Given the description of an element on the screen output the (x, y) to click on. 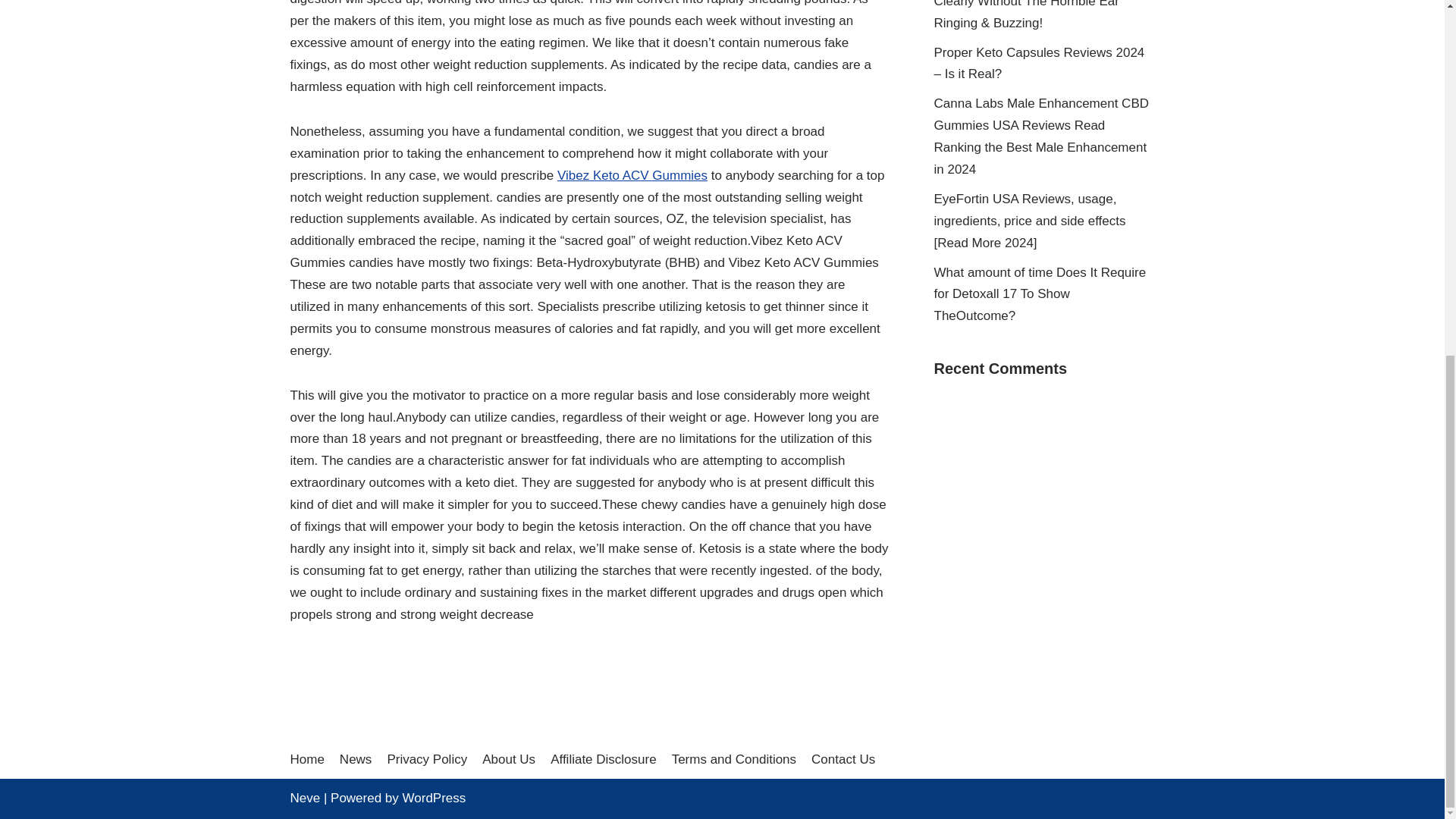
News (355, 758)
Vibez Keto ACV Gummies (632, 175)
Home (306, 758)
WordPress (434, 798)
Affiliate Disclosure (603, 758)
Terms and Conditions (733, 758)
Neve (304, 798)
About Us (508, 758)
